Given the description of an element on the screen output the (x, y) to click on. 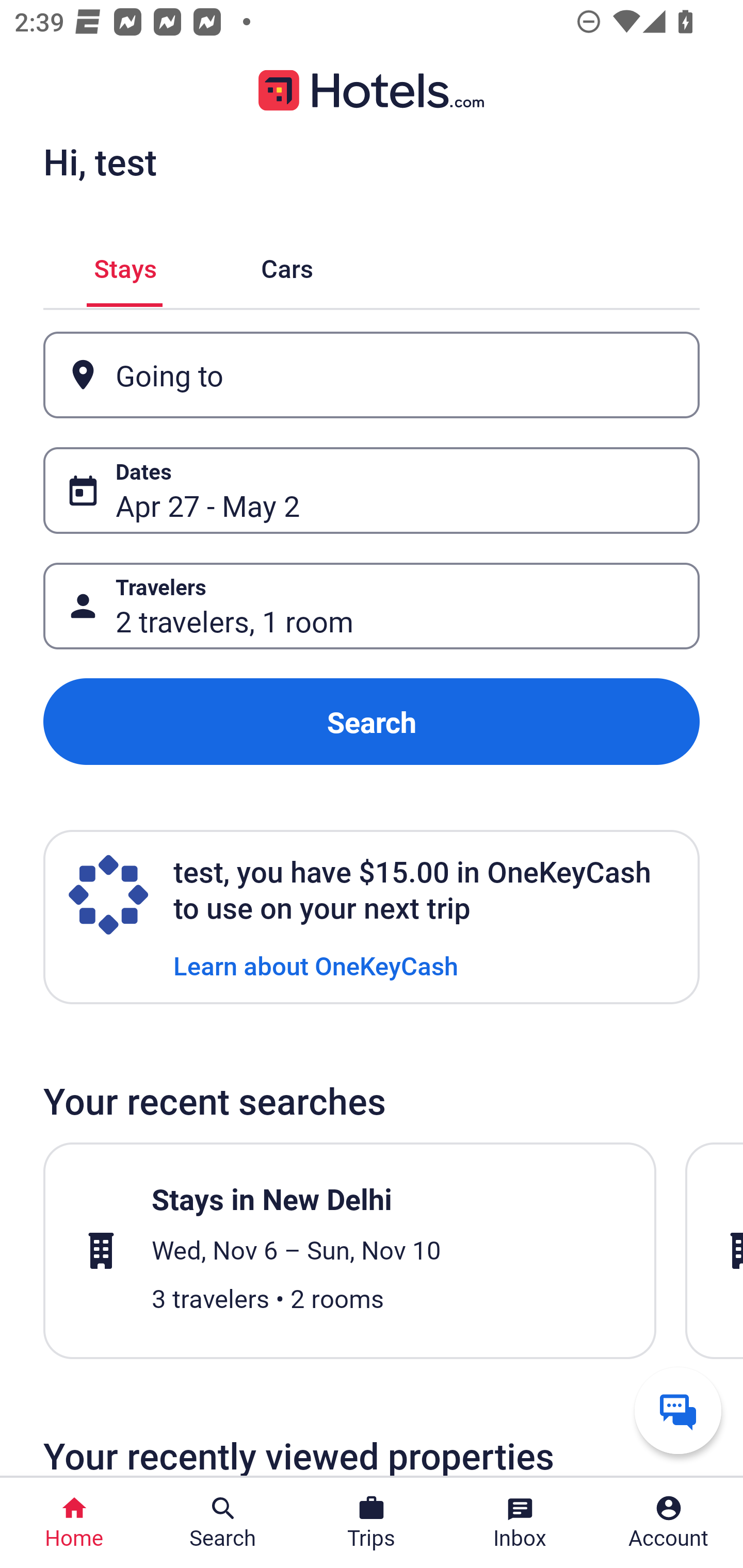
Hi, test (99, 161)
Cars (286, 265)
Going to Button (371, 375)
Dates Button Apr 27 - May 2 (371, 489)
Travelers Button 2 travelers, 1 room (371, 605)
Search (371, 721)
Learn about OneKeyCash Learn about OneKeyCash Link (315, 964)
Get help from a virtual agent (677, 1410)
Search Search Button (222, 1522)
Trips Trips Button (371, 1522)
Inbox Inbox Button (519, 1522)
Account Profile. Button (668, 1522)
